Given the description of an element on the screen output the (x, y) to click on. 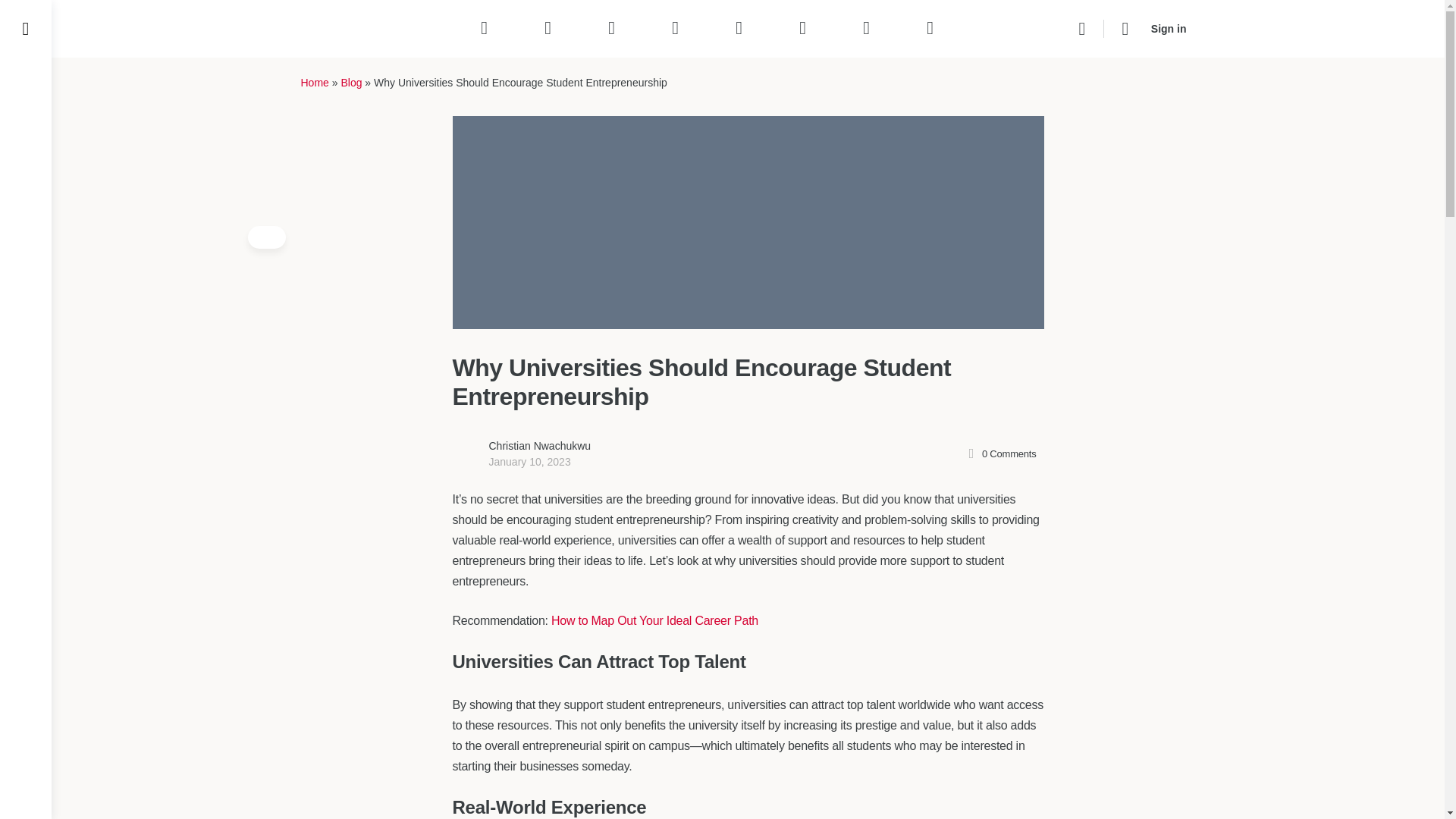
Home (314, 82)
How to Map Out Your Ideal Career Path (654, 620)
Christian Nwachukwu (539, 445)
0 Comments (999, 453)
Blog (350, 82)
January 10, 2023 (528, 461)
Sign in (1168, 28)
